Given the description of an element on the screen output the (x, y) to click on. 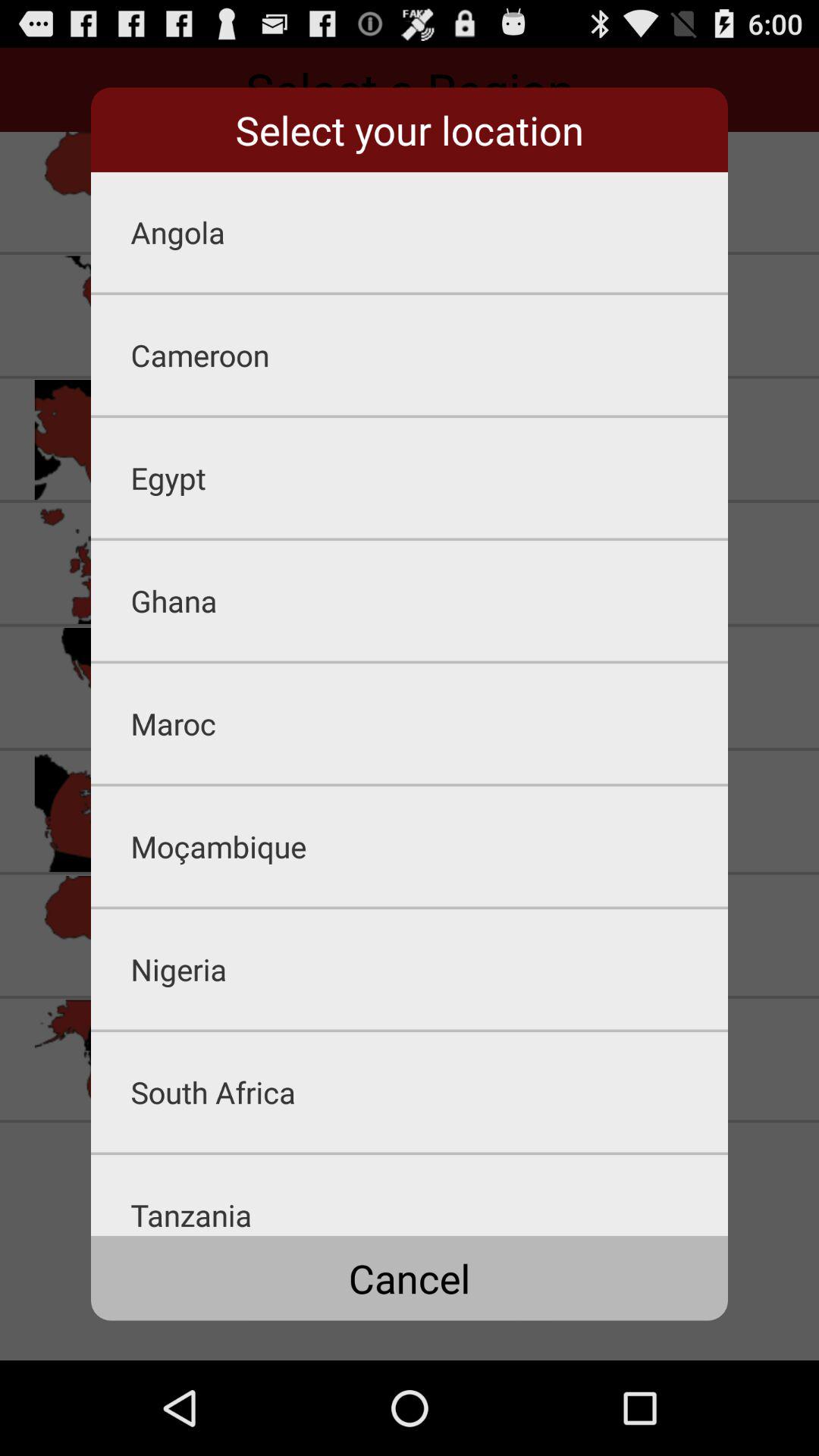
flip until the south africa icon (429, 1092)
